Given the description of an element on the screen output the (x, y) to click on. 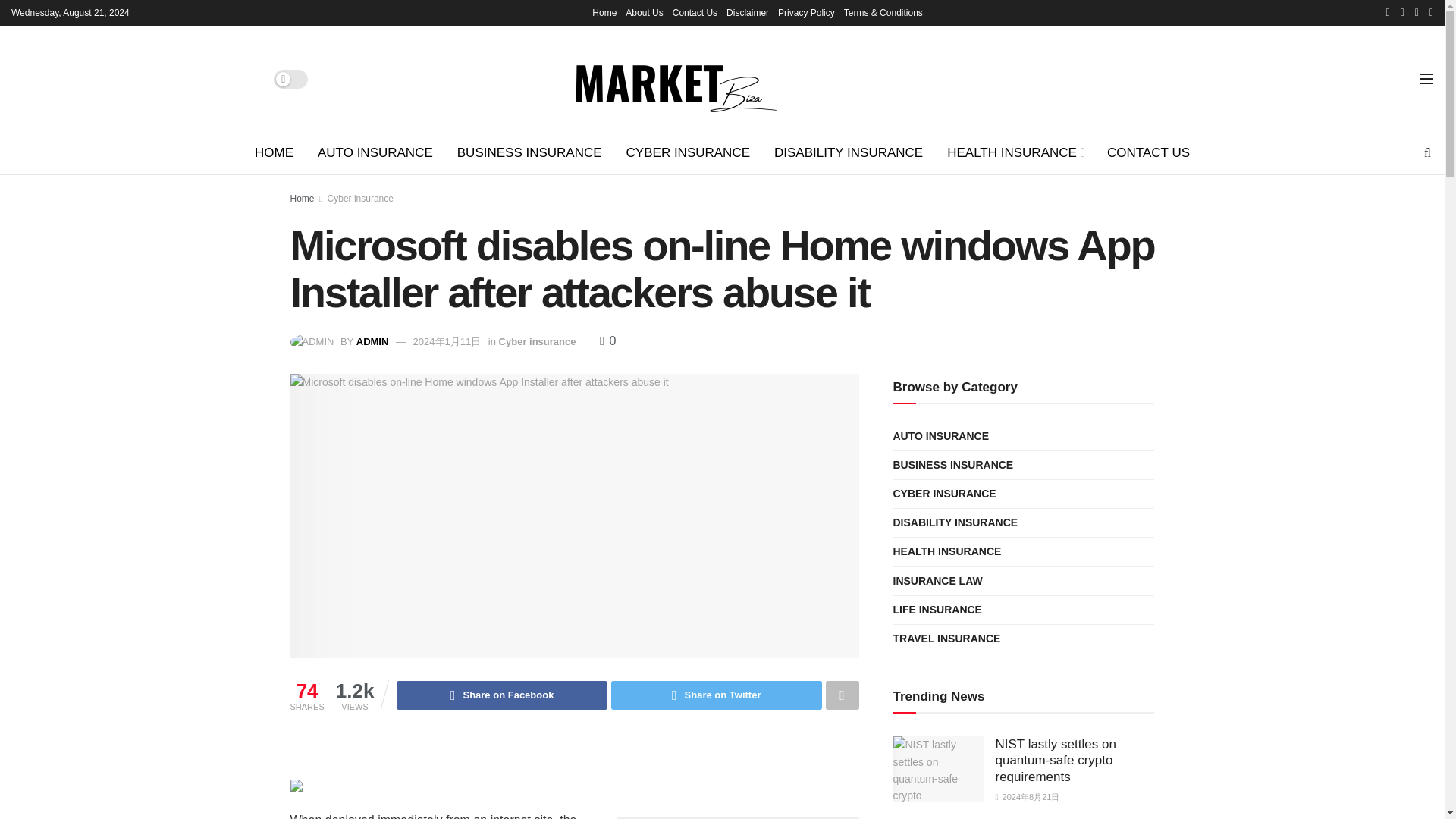
CYBER INSURANCE (687, 152)
Contact Us (694, 12)
CONTACT US (1148, 152)
About Us (644, 12)
HOME (274, 152)
HEALTH INSURANCE (1014, 152)
DISABILITY INSURANCE (847, 152)
BUSINESS INSURANCE (529, 152)
Privacy Policy (805, 12)
Disclaimer (747, 12)
